Given the description of an element on the screen output the (x, y) to click on. 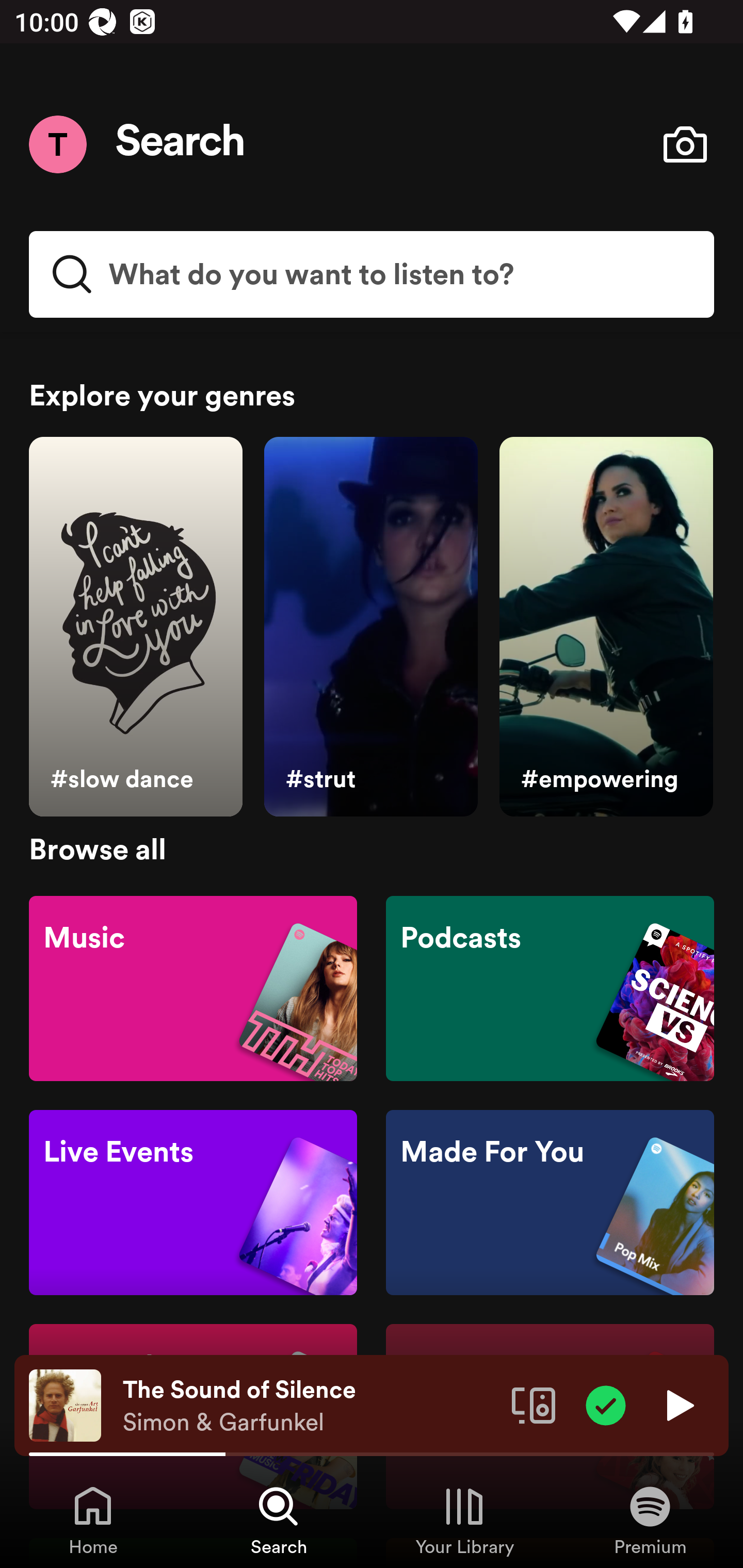
Menu (57, 144)
Open camera (685, 145)
Search (180, 144)
#slow dance (135, 626)
#strut (370, 626)
#empowering (606, 626)
Music (192, 987)
Podcasts (549, 987)
Live Events (192, 1202)
Made For You (549, 1202)
The Sound of Silence Simon & Garfunkel (309, 1405)
The cover art of the currently playing track (64, 1404)
Connect to a device. Opens the devices menu (533, 1404)
Item added (605, 1404)
Play (677, 1404)
Home, Tab 1 of 4 Home Home (92, 1519)
Search, Tab 2 of 4 Search Search (278, 1519)
Your Library, Tab 3 of 4 Your Library Your Library (464, 1519)
Premium, Tab 4 of 4 Premium Premium (650, 1519)
